Given the description of an element on the screen output the (x, y) to click on. 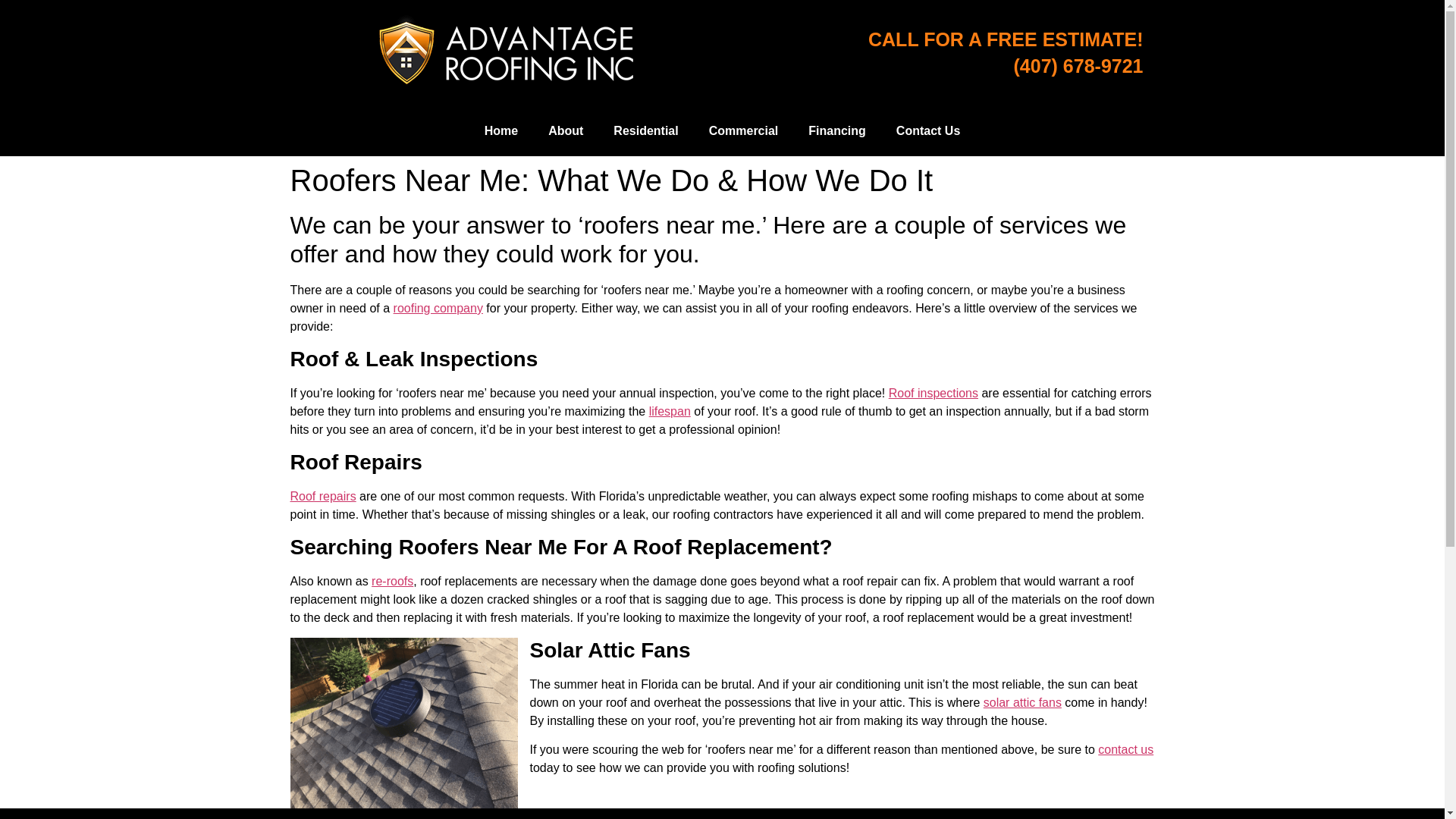
About (565, 130)
Home (500, 130)
Roof repairs (322, 495)
lifespan (669, 410)
Residential (645, 130)
Commercial (743, 130)
Financing (836, 130)
Roof inspections (933, 392)
Contact Us (927, 130)
re-roofs (392, 581)
